Given the description of an element on the screen output the (x, y) to click on. 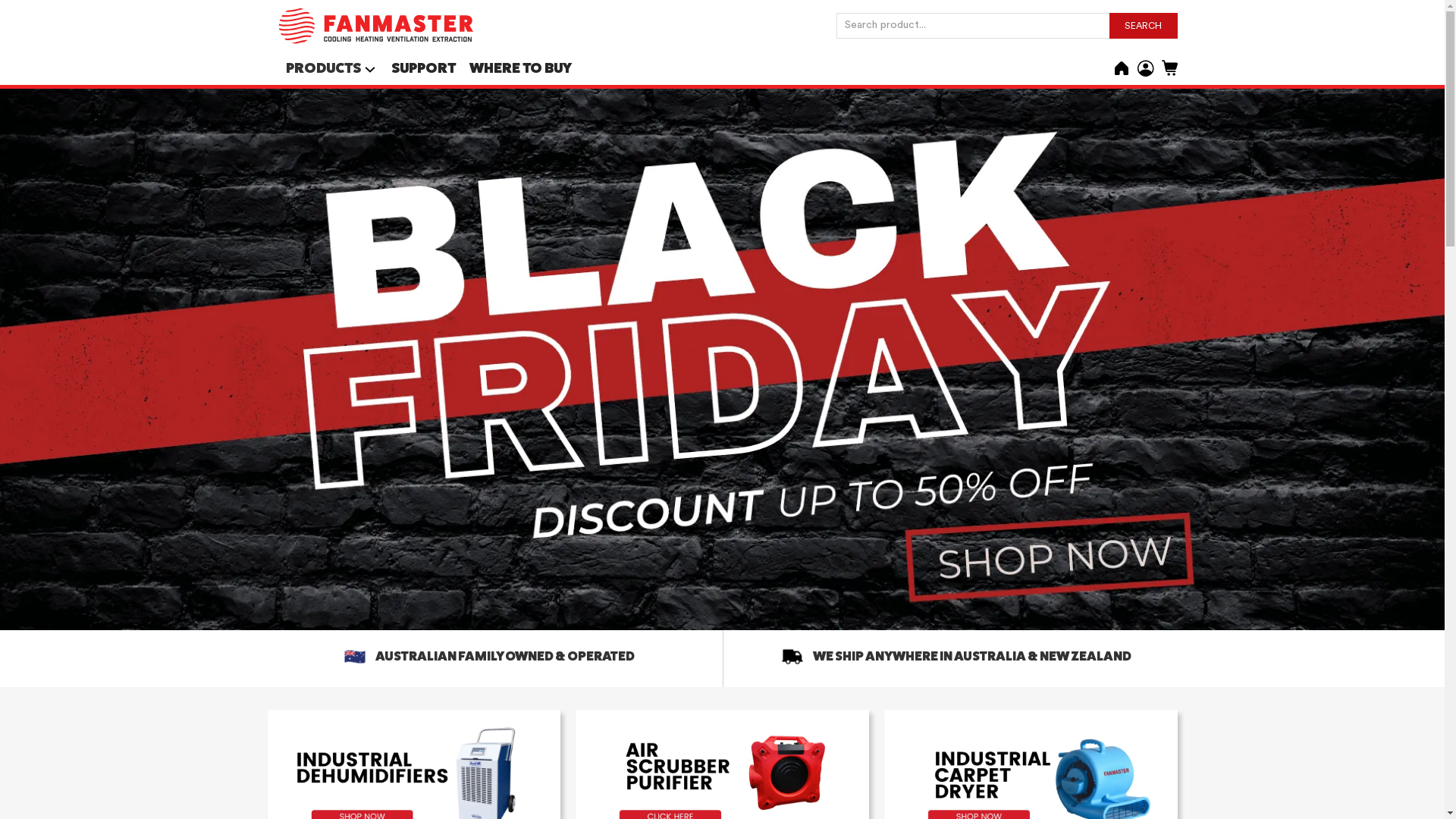
Fanmaster Element type: hover (376, 25)
Login / Register Element type: hover (1145, 67)
SUPPORT Element type: text (423, 69)
PRODUCTS Element type: text (323, 68)
WHERE TO BUY Element type: text (519, 69)
SEARCH Element type: text (1142, 25)
